Given the description of an element on the screen output the (x, y) to click on. 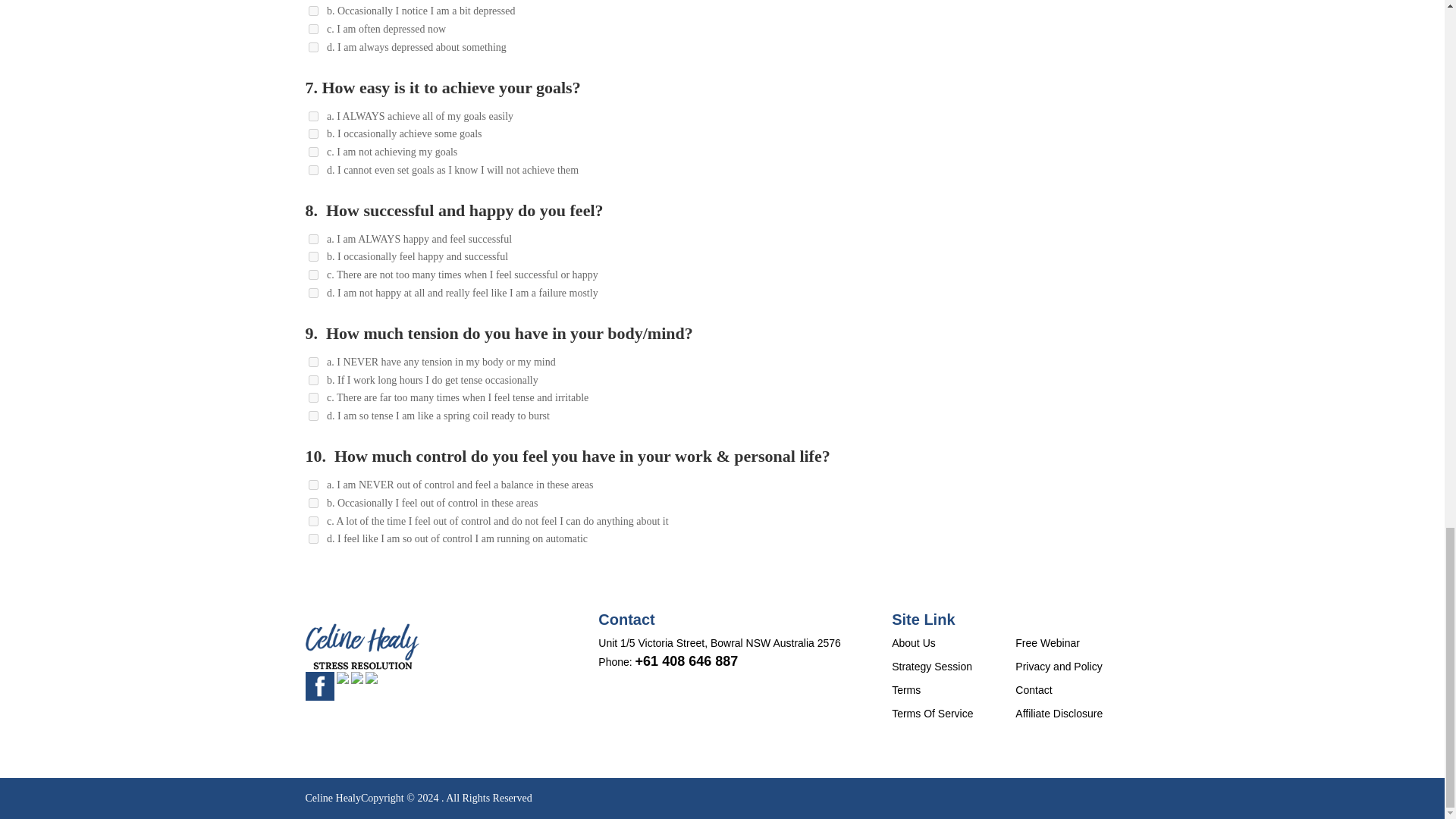
Celine Healy (331, 798)
Privacy and Policy (1058, 666)
Terms (905, 689)
About Us (913, 643)
Terms Of Service (931, 713)
Affiliate Disclosure (1058, 713)
Strategy Session (931, 666)
Free Webinar (1047, 643)
Contact (1032, 689)
